Given the description of an element on the screen output the (x, y) to click on. 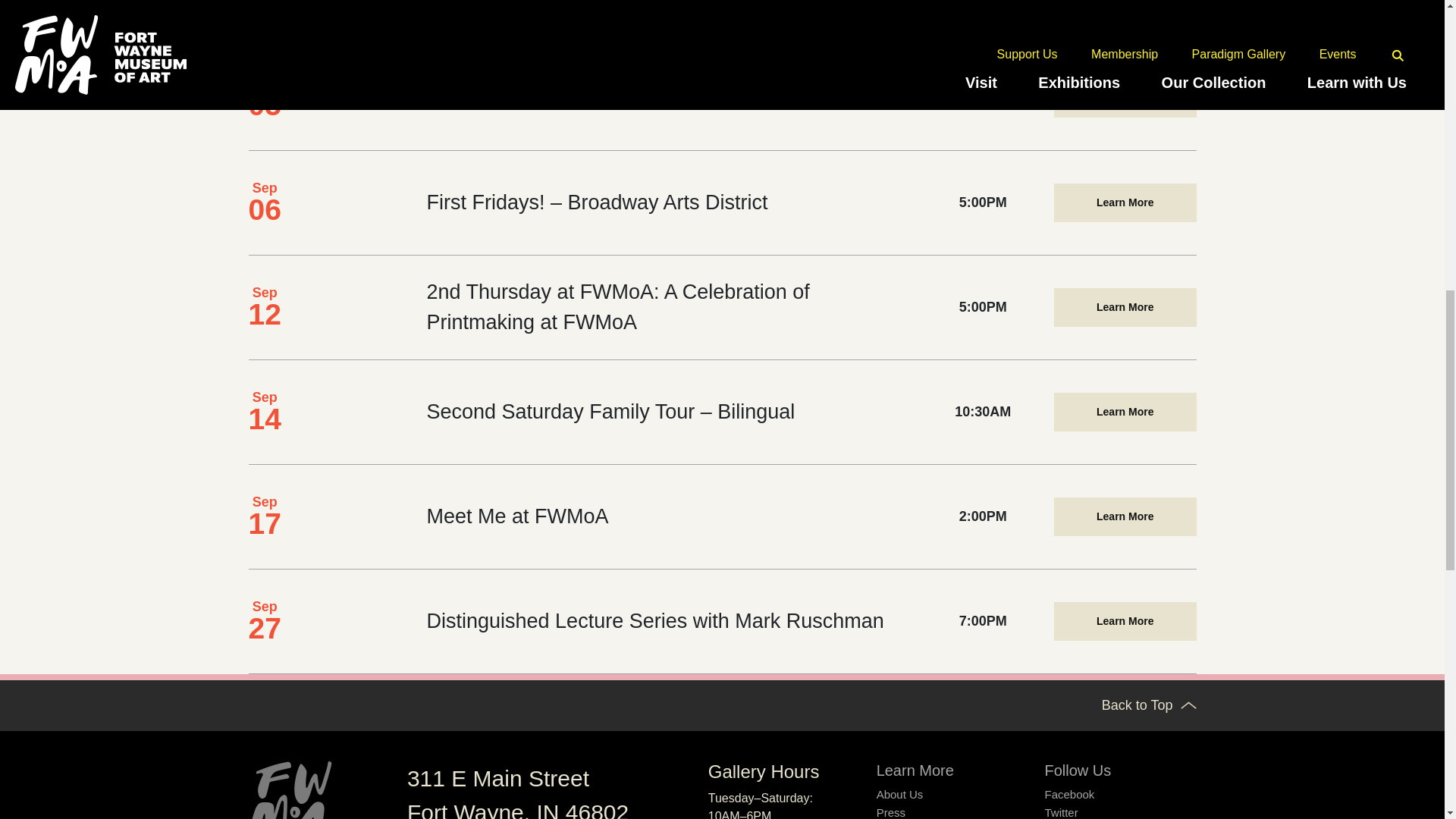
Learn More (1125, 307)
Learn More (1125, 202)
Learn More (1125, 97)
